Given the description of an element on the screen output the (x, y) to click on. 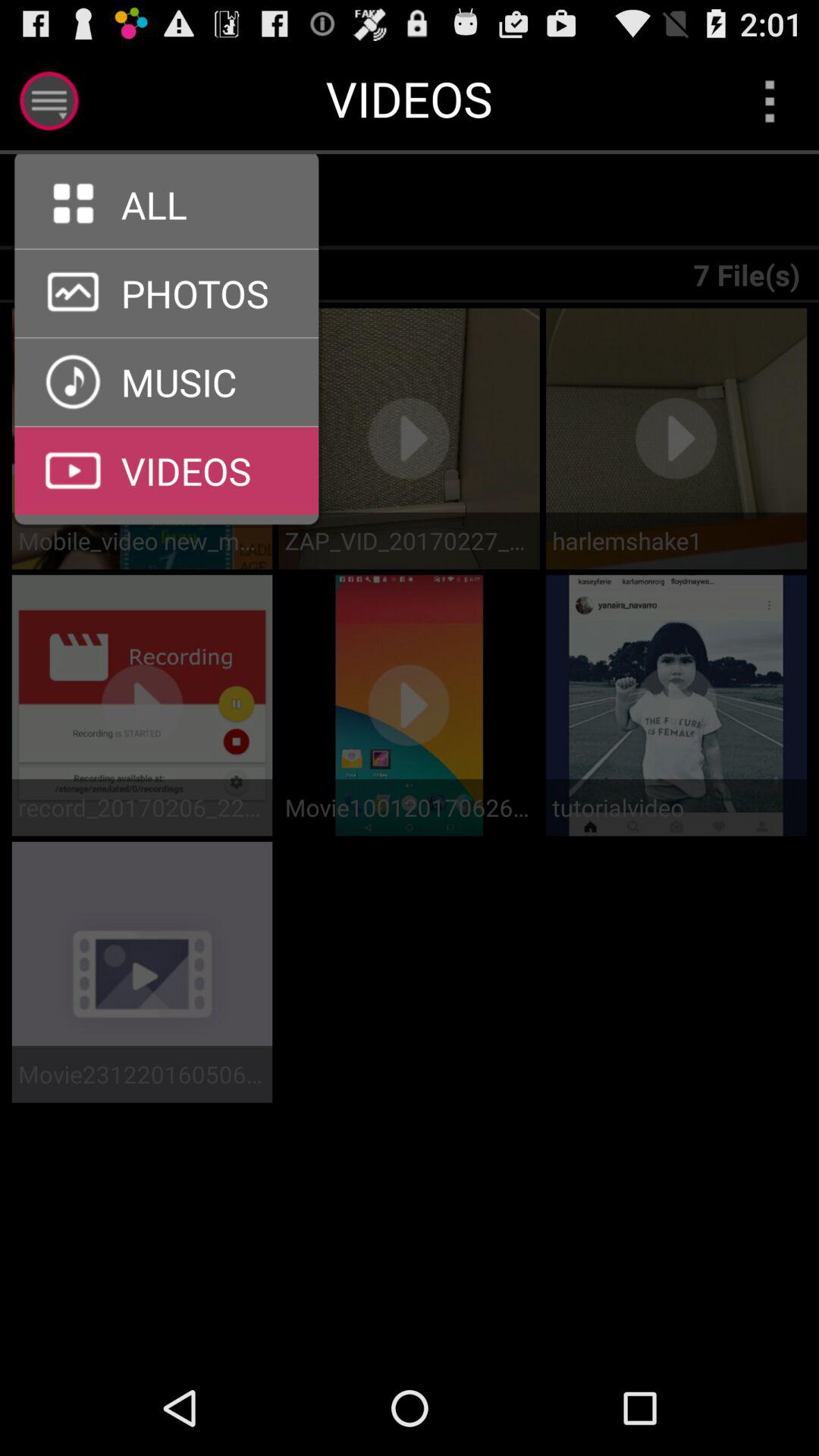
swipe to the movie23122016050602 icon (141, 1073)
